Given the description of an element on the screen output the (x, y) to click on. 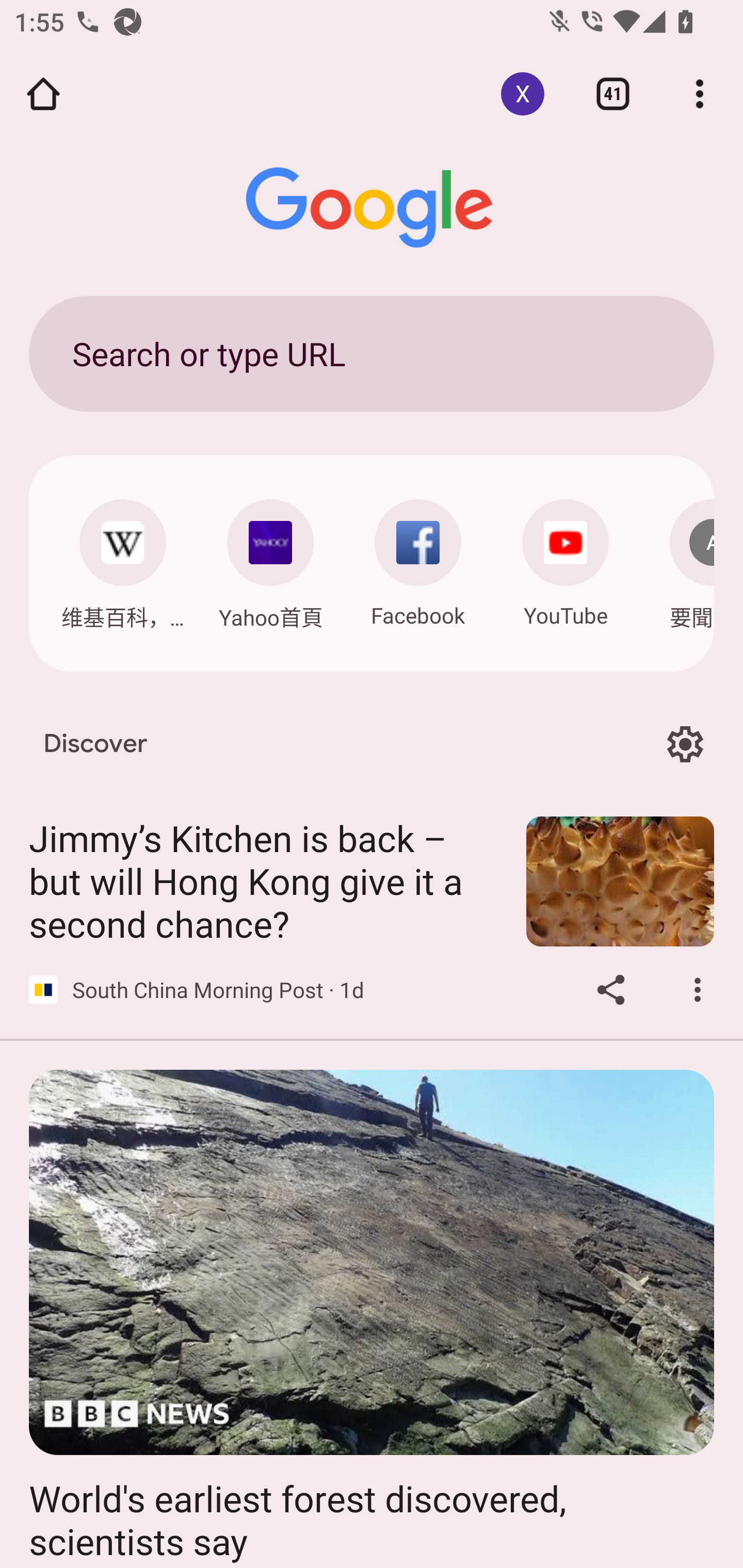
Open the home page (43, 93)
Switch or close tabs (612, 93)
Customize and control Google Chrome (699, 93)
Search or type URL (371, 353)
Navigate: Yahoo首頁: hk.mobi.yahoo.com Yahoo首頁 (270, 558)
Navigate: Facebook: m.facebook.com Facebook (417, 558)
Navigate: YouTube: m.youtube.com YouTube (565, 558)
Options for Discover (684, 743)
